Given the description of an element on the screen output the (x, y) to click on. 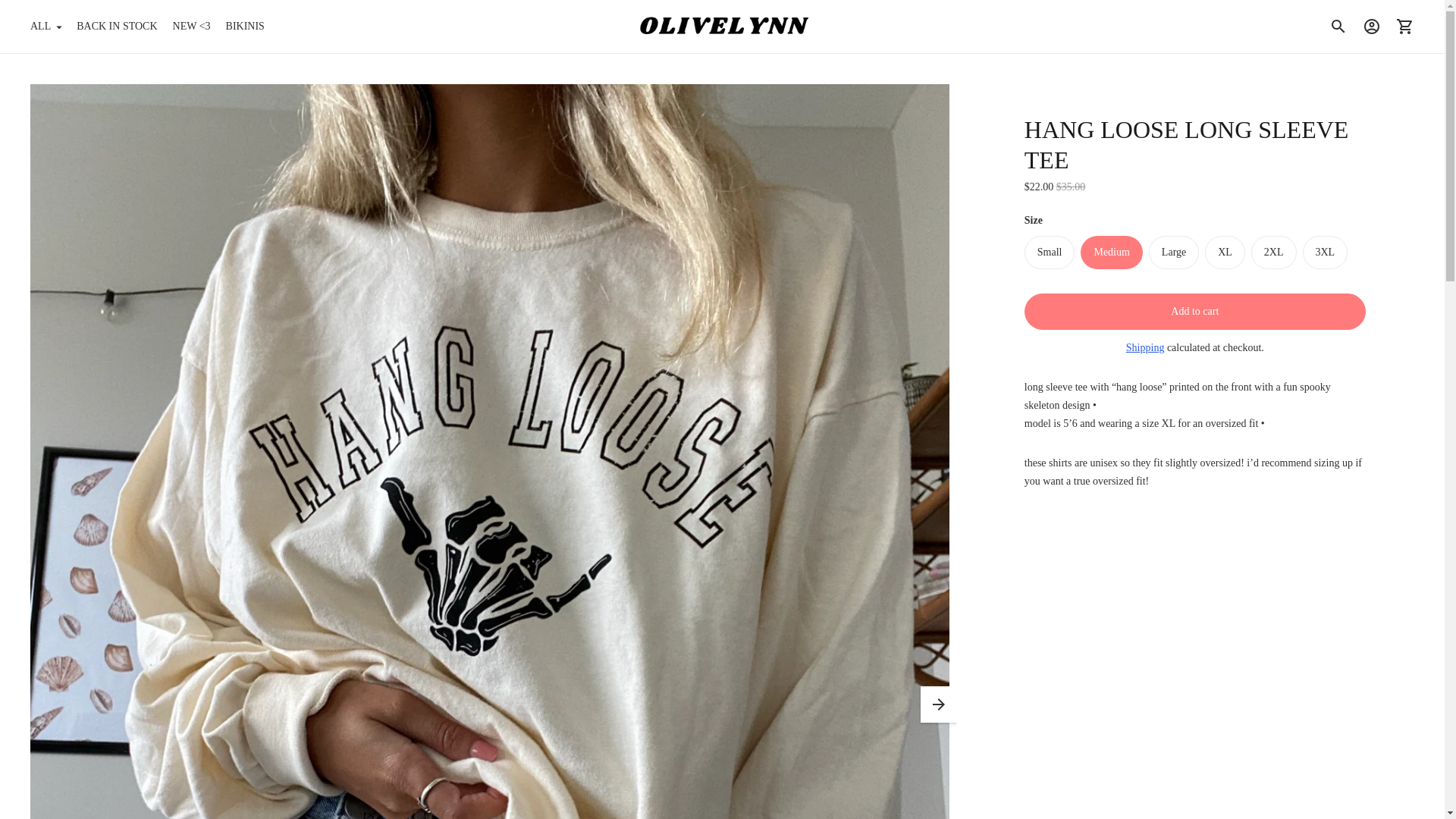
Search (1338, 26)
Cart (1405, 26)
Next (938, 704)
BIKINIS (244, 26)
BACK IN STOCK (117, 26)
ALL (45, 26)
Account (1372, 26)
